Given the description of an element on the screen output the (x, y) to click on. 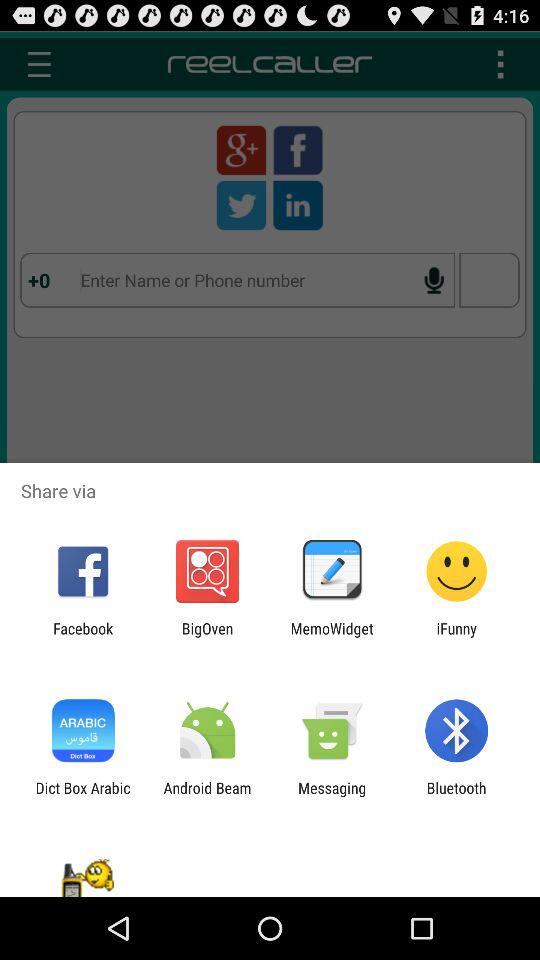
turn on app next to memowidget app (207, 637)
